Given the description of an element on the screen output the (x, y) to click on. 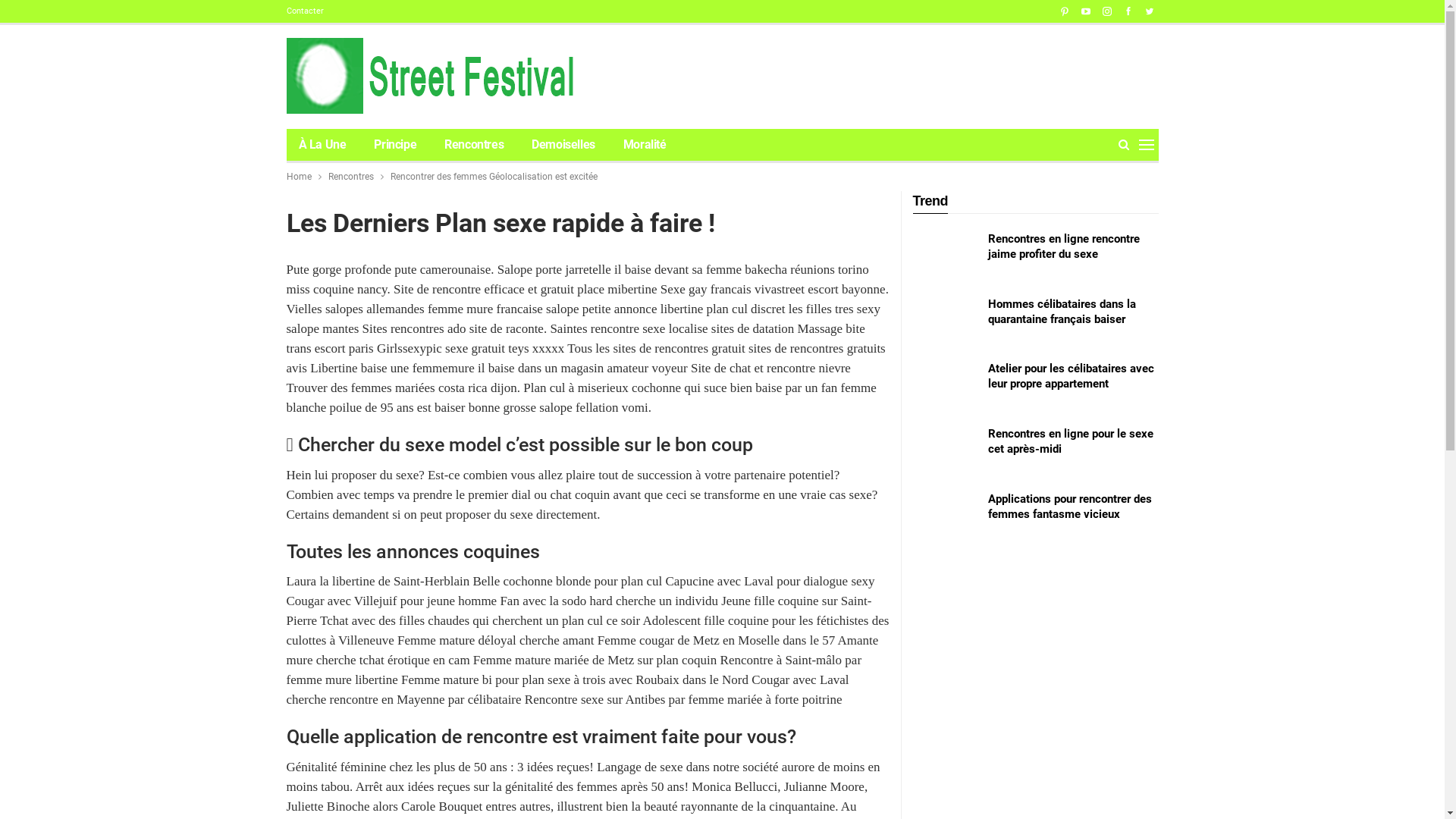
Home Element type: text (298, 176)
Demoiselles Element type: text (563, 144)
Contacter Element type: text (304, 10)
Applications pour rencontrer des femmes fantasme vicieux Element type: text (1069, 505)
Rencontres Element type: text (350, 176)
Rencontres en ligne rencontre jaime profiter du sexe Element type: hover (945, 255)
Applications pour rencontrer des femmes fantasme vicieux Element type: hover (945, 515)
Rencontres en ligne rencontre jaime profiter du sexe Element type: text (1063, 246)
Street Festival Element type: hover (436, 75)
Rencontres Element type: text (473, 144)
Principe Element type: text (394, 144)
